Given the description of an element on the screen output the (x, y) to click on. 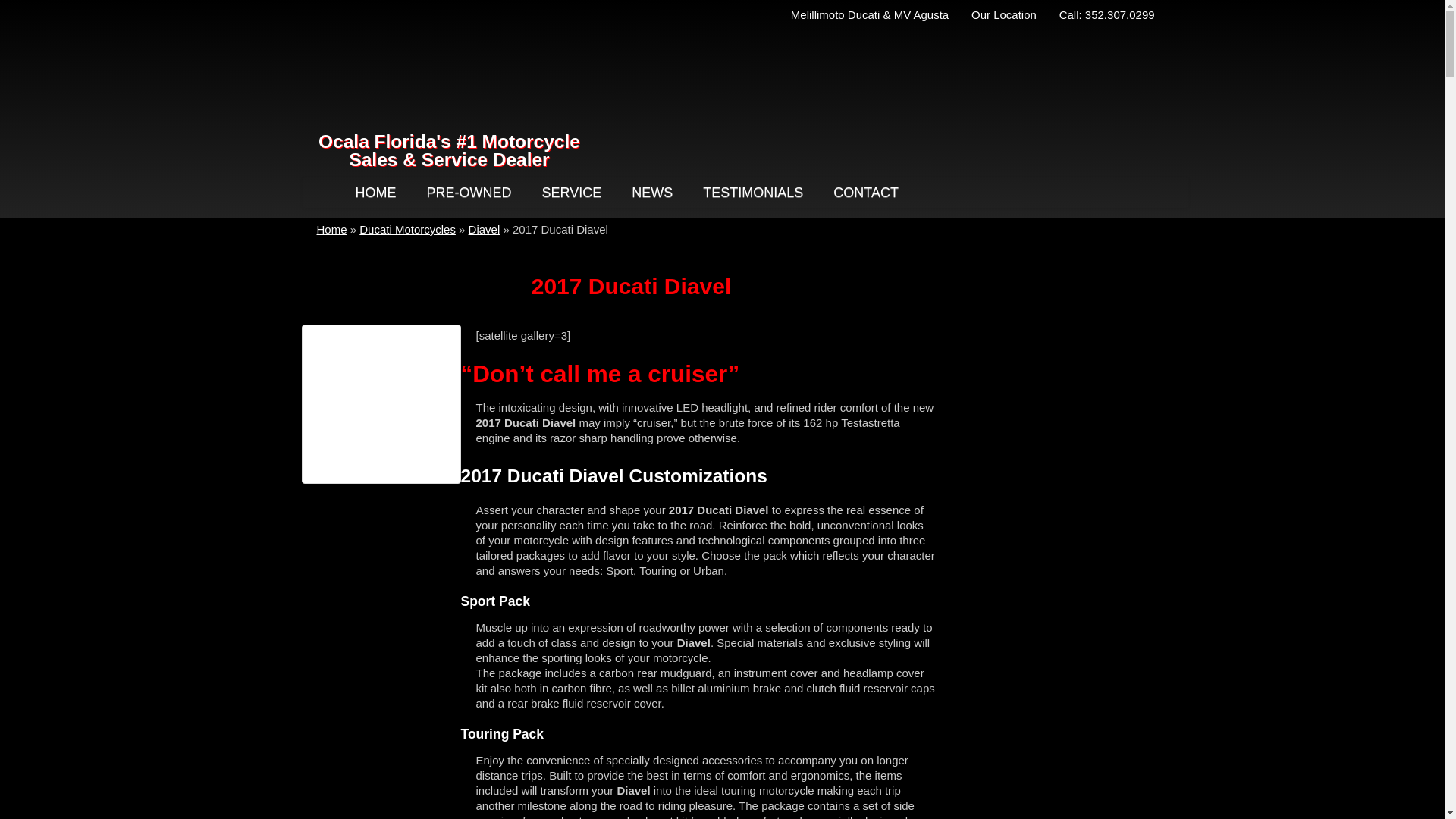
TESTIMONIALS (752, 192)
Home (332, 228)
Call: 352.307.0299 (1106, 14)
CONTACT (866, 192)
Our Location (1003, 14)
HOME (375, 192)
SERVICE (571, 192)
Melillimoto Ducati MV Agusta Motorcycle (445, 68)
PRE-OWNED (468, 192)
NEWS (652, 192)
